Given the description of an element on the screen output the (x, y) to click on. 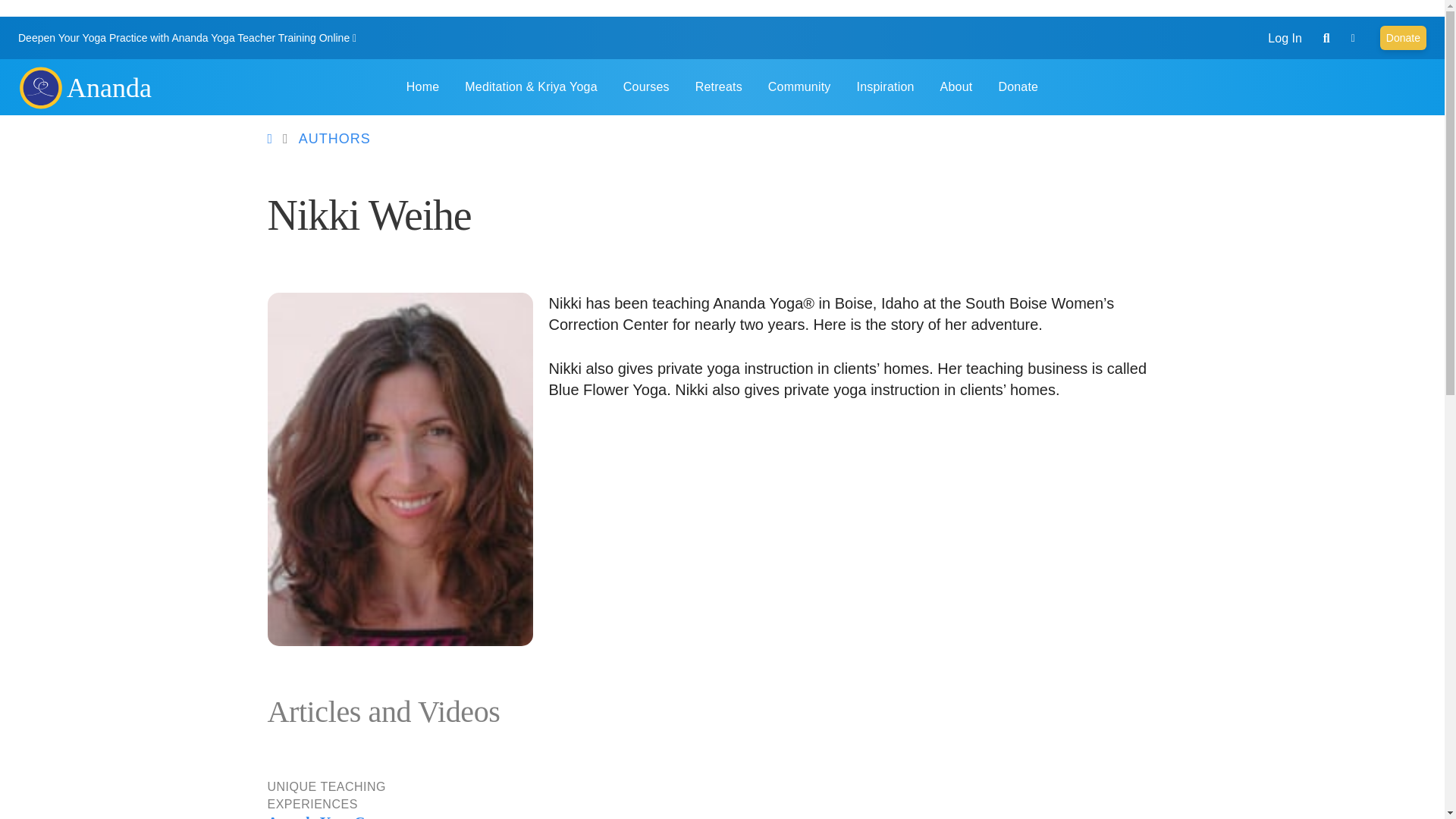
Home (422, 86)
Ananda (108, 87)
Ananda (39, 86)
Courses (646, 86)
Home (39, 86)
Home (108, 87)
Log In (1284, 38)
Donate (1403, 37)
